Given the description of an element on the screen output the (x, y) to click on. 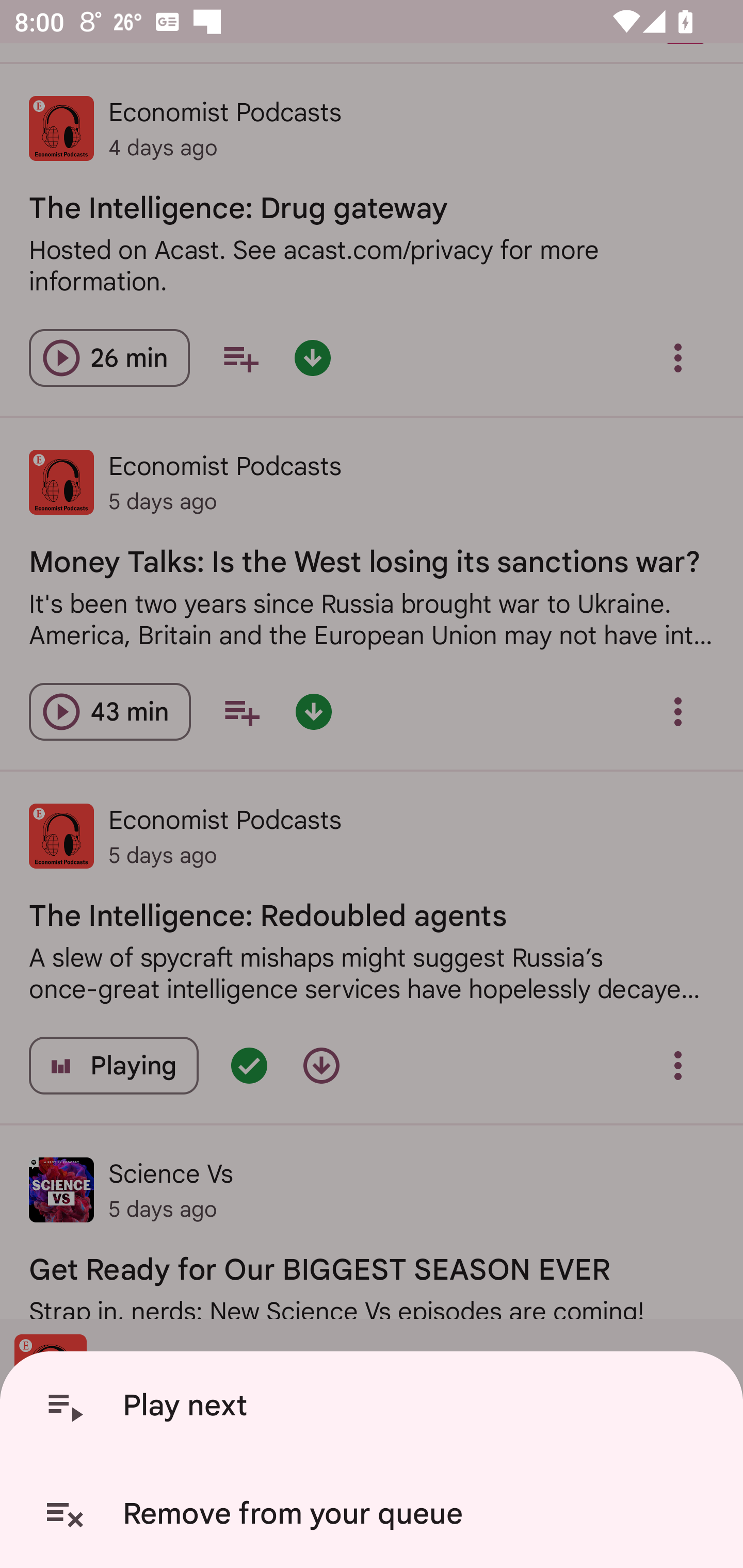
Play next (375, 1405)
Remove from your queue (375, 1513)
